Given the description of an element on the screen output the (x, y) to click on. 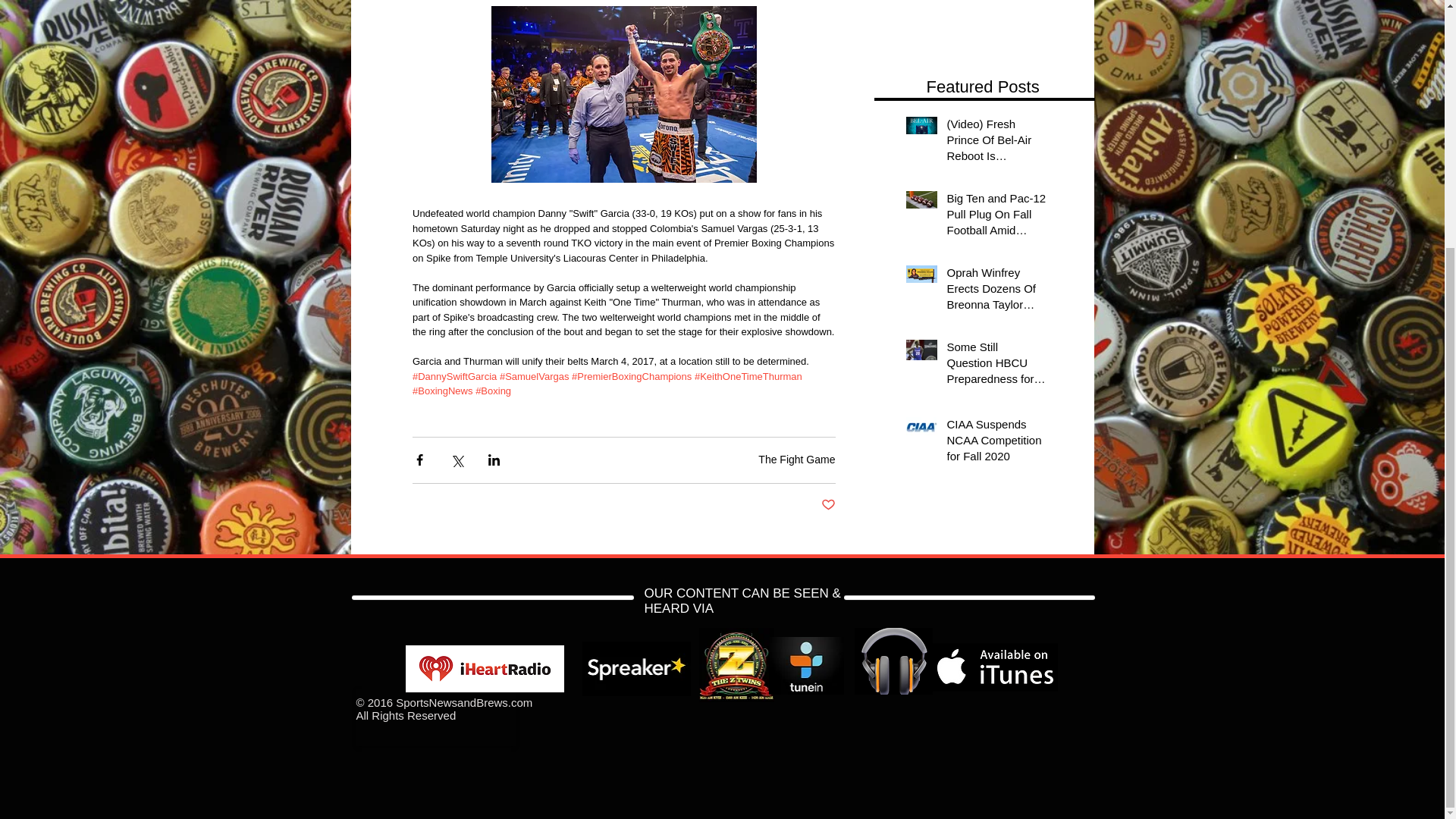
The Fight Game (796, 459)
CIAA Suspends NCAA Competition for Fall 2020 (995, 443)
Big Ten and Pac-12 Pull Plug On Fall Football Amid Pandemic (995, 217)
Post not marked as liked (827, 505)
Some Still Question HBCU Preparedness for Blue Chip Athletes (995, 366)
